Given the description of an element on the screen output the (x, y) to click on. 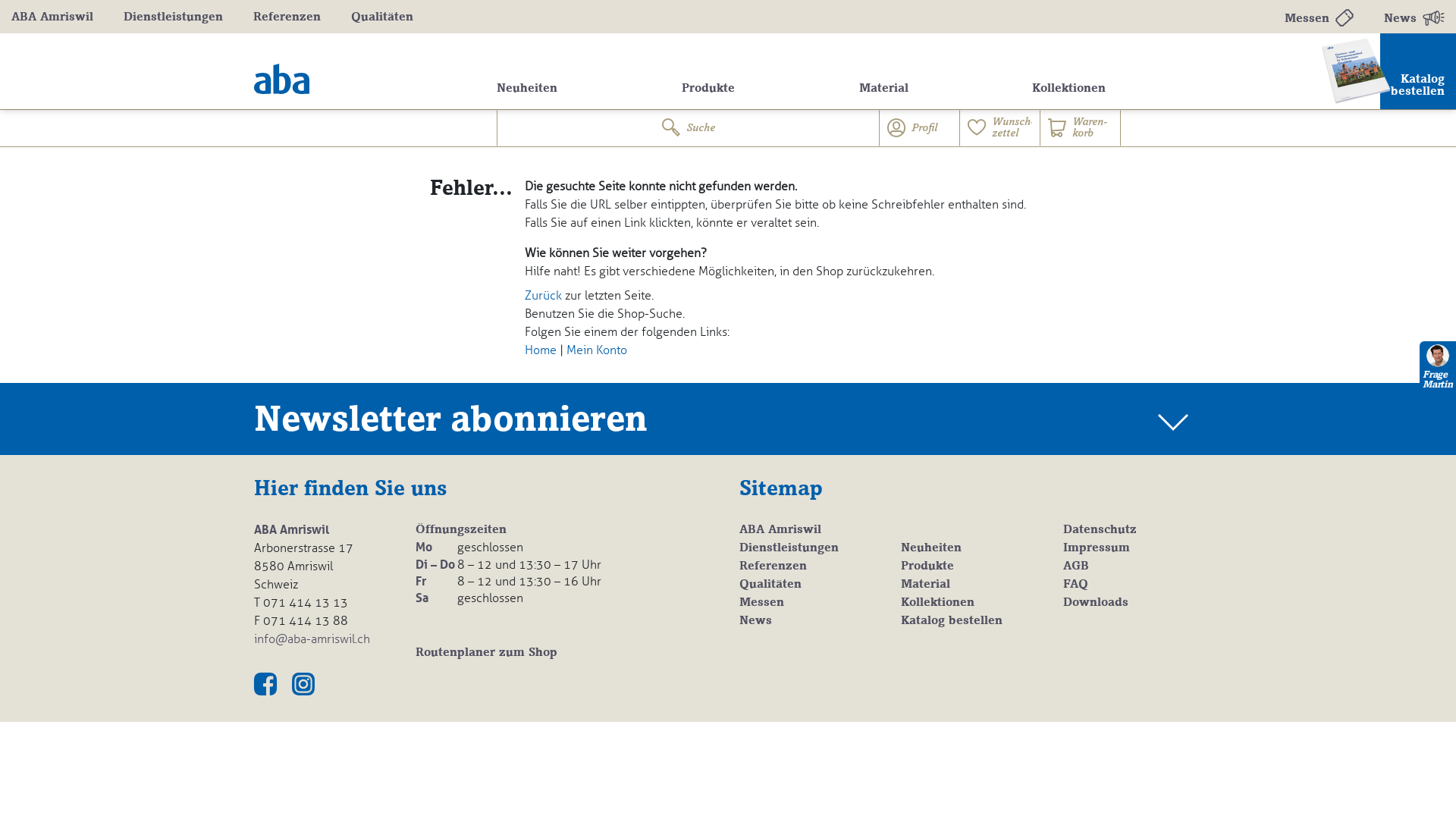
FAQ Element type: text (1075, 584)
Kollektionen Element type: text (937, 602)
Dienstleistungen Element type: text (172, 18)
ABA Amriswil Element type: text (780, 530)
Produkte Element type: text (708, 88)
AGB Element type: text (1075, 566)
Referenzen Element type: text (772, 566)
Mein Konto Element type: text (596, 349)
ABA Amriswil Element type: text (52, 18)
Neuheiten Element type: text (526, 88)
Dienstleistungen Element type: text (788, 548)
Downloads Element type: text (1095, 602)
Messen Element type: text (1318, 18)
Home Element type: text (540, 349)
Datenschutz Element type: text (1099, 530)
Messen Element type: text (761, 602)
info@aba-amriswil.ch Element type: text (312, 638)
Produkte Element type: text (926, 566)
Referenzen Element type: text (286, 18)
Kollektionen Element type: text (1068, 88)
Routenplaner zum Shop Element type: text (565, 652)
Impressum Element type: text (1096, 548)
Katalog bestellen Element type: text (951, 621)
ABA Amriswil Element type: hover (281, 78)
Neuheiten Element type: text (930, 548)
News Element type: text (1413, 18)
Material Element type: text (925, 584)
News Element type: text (755, 621)
Material Element type: text (883, 88)
